Given the description of an element on the screen output the (x, y) to click on. 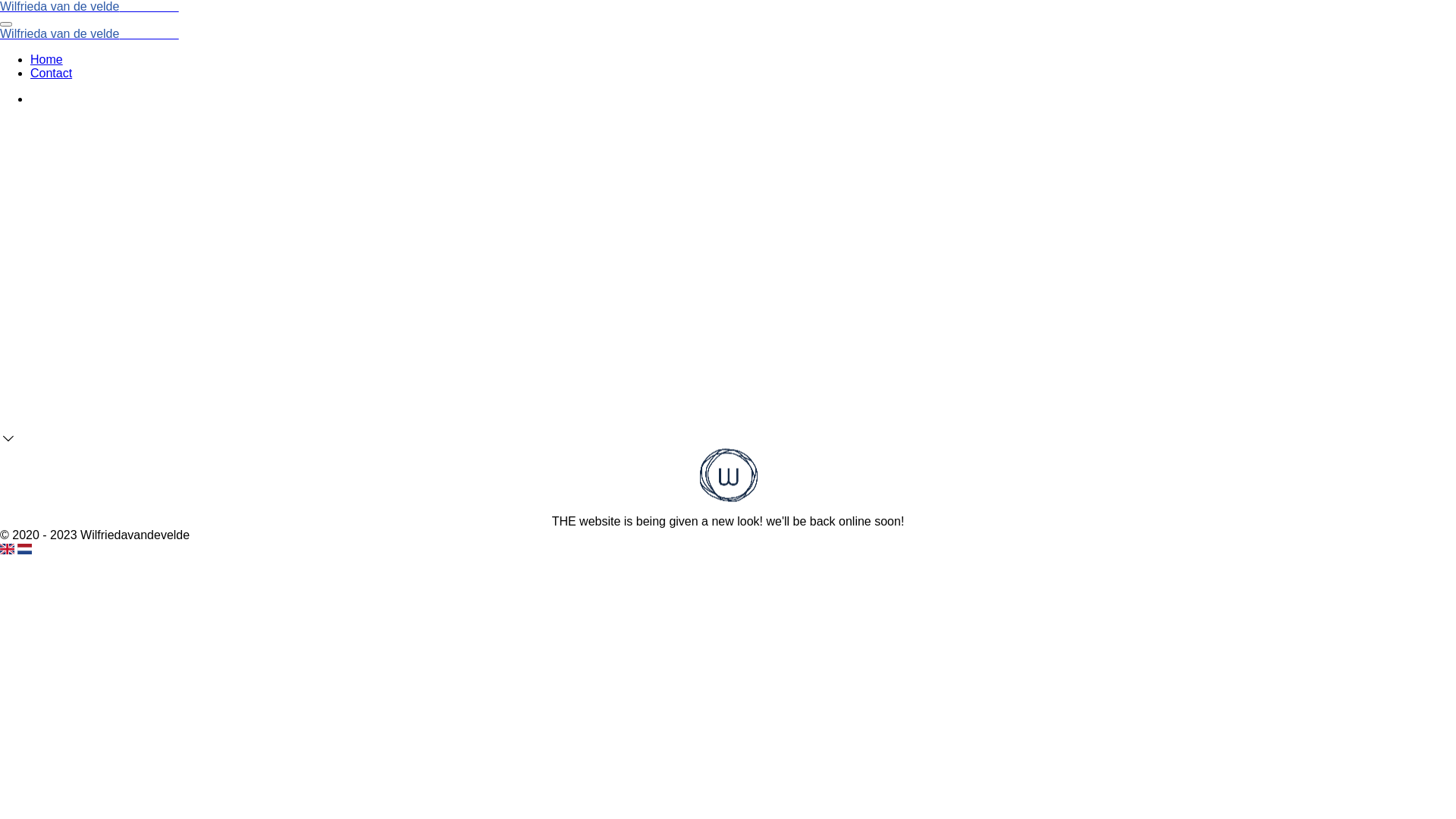
Home Element type: text (46, 59)
Contact Element type: text (51, 72)
Wilfrieda van de velden De Velde Element type: text (89, 6)
Current language Element type: hover (7, 548)
Wilfrieda van de velden De Velde Element type: text (89, 33)
